Given the description of an element on the screen output the (x, y) to click on. 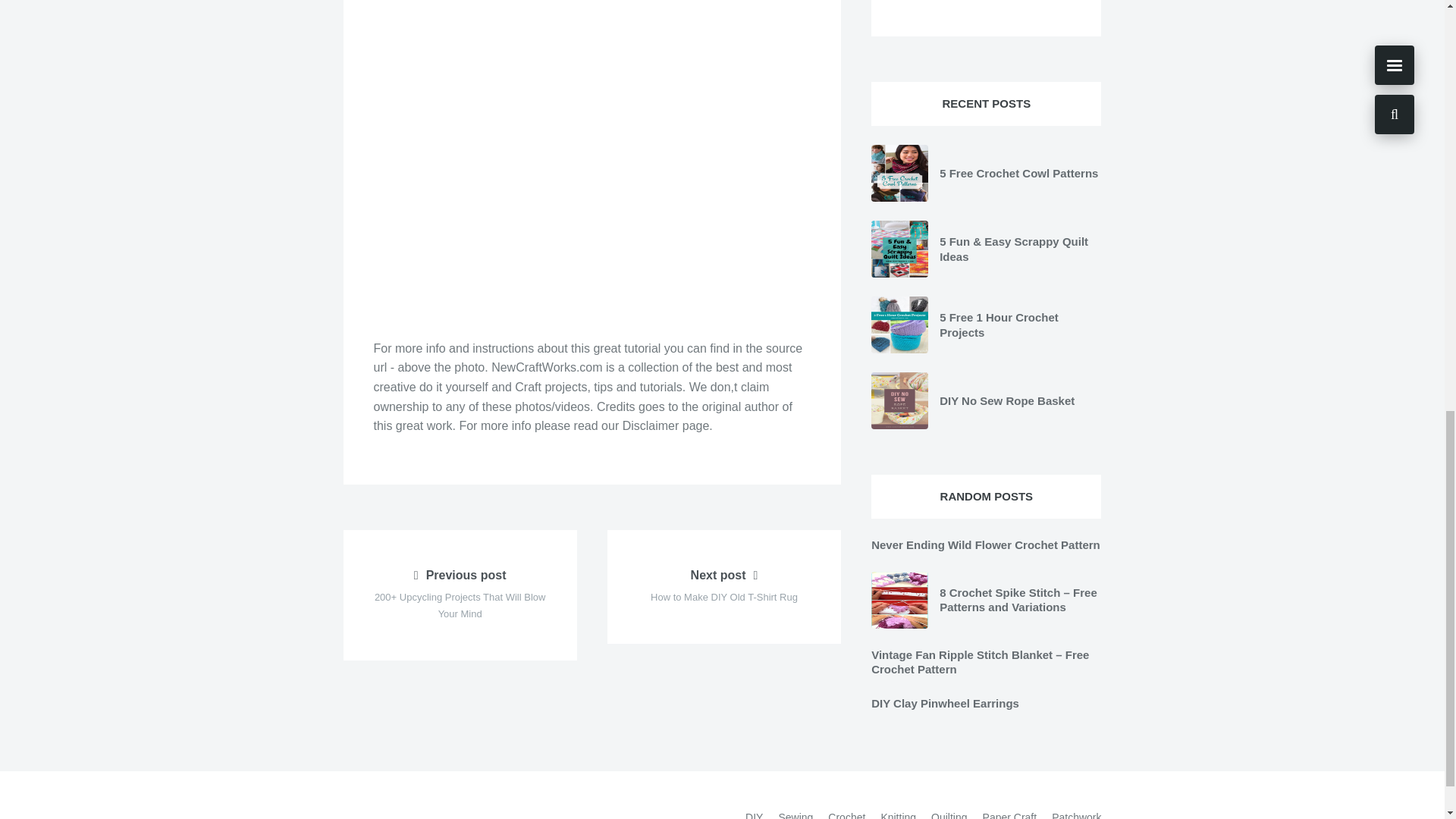
5 Free 1 Hour Crochet Projects (998, 325)
5 Free Crochet Cowl Patterns (1018, 173)
Never Ending Wild Flower Crochet Pattern (985, 544)
DIY No Sew Rope Basket (1006, 400)
